Given the description of an element on the screen output the (x, y) to click on. 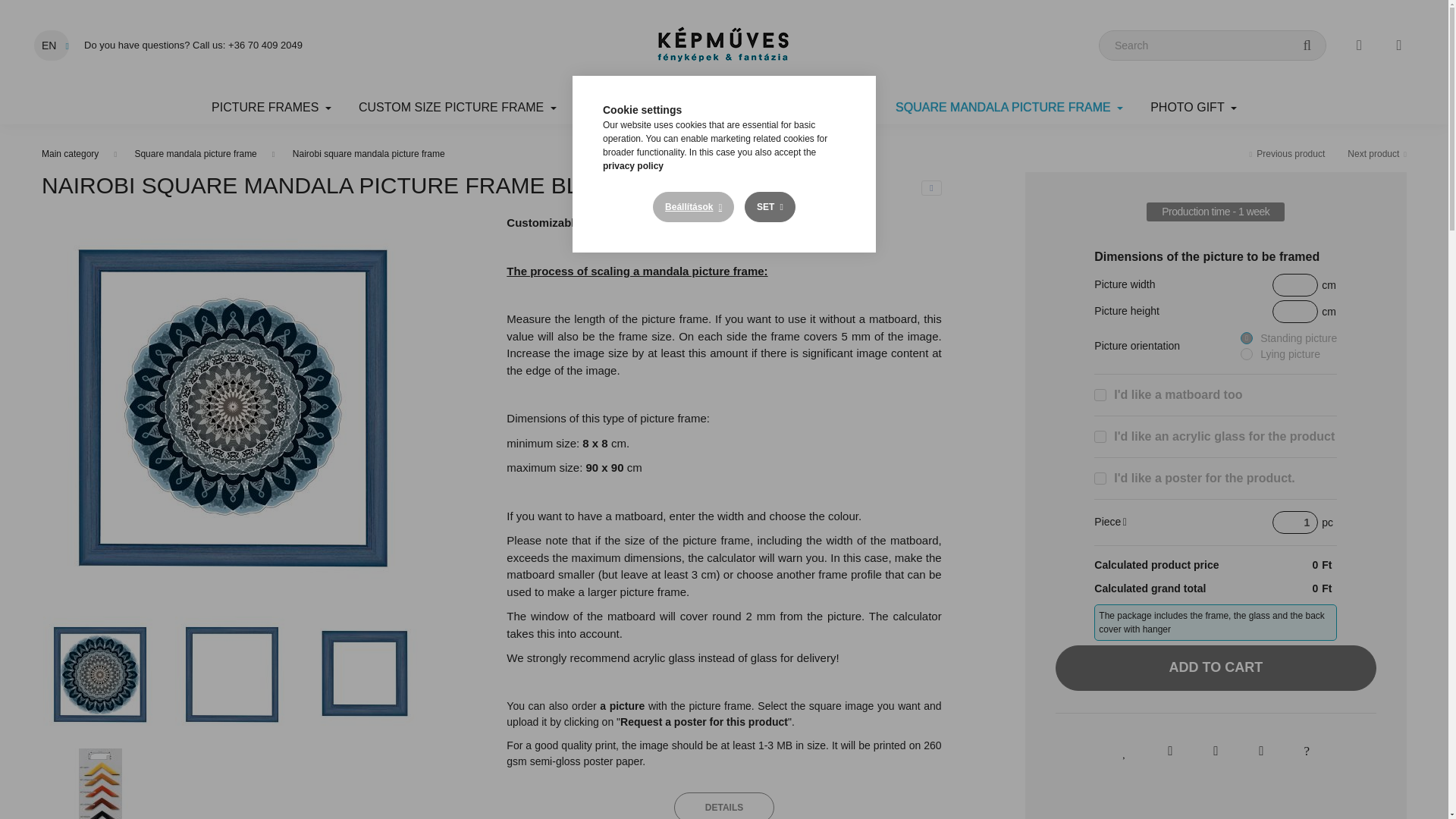
DETAILS (723, 805)
CUSTOM SIZE PICTURE FRAME (457, 107)
PICTURE FRAMES (271, 107)
Nairobi square mandala picture frame blue (364, 673)
Main category  (70, 153)
1 (1294, 522)
Nairobi square mandala picture frame blue (100, 783)
Nairobi square mandala picture frame blue (231, 673)
Enter a longer search term! (1212, 45)
CUSTOM SIZE PICTURE FRAME FOR PUZZLES (726, 107)
DETAILS (724, 805)
Nairobi square mandala picture frame blue (100, 673)
